Given the description of an element on the screen output the (x, y) to click on. 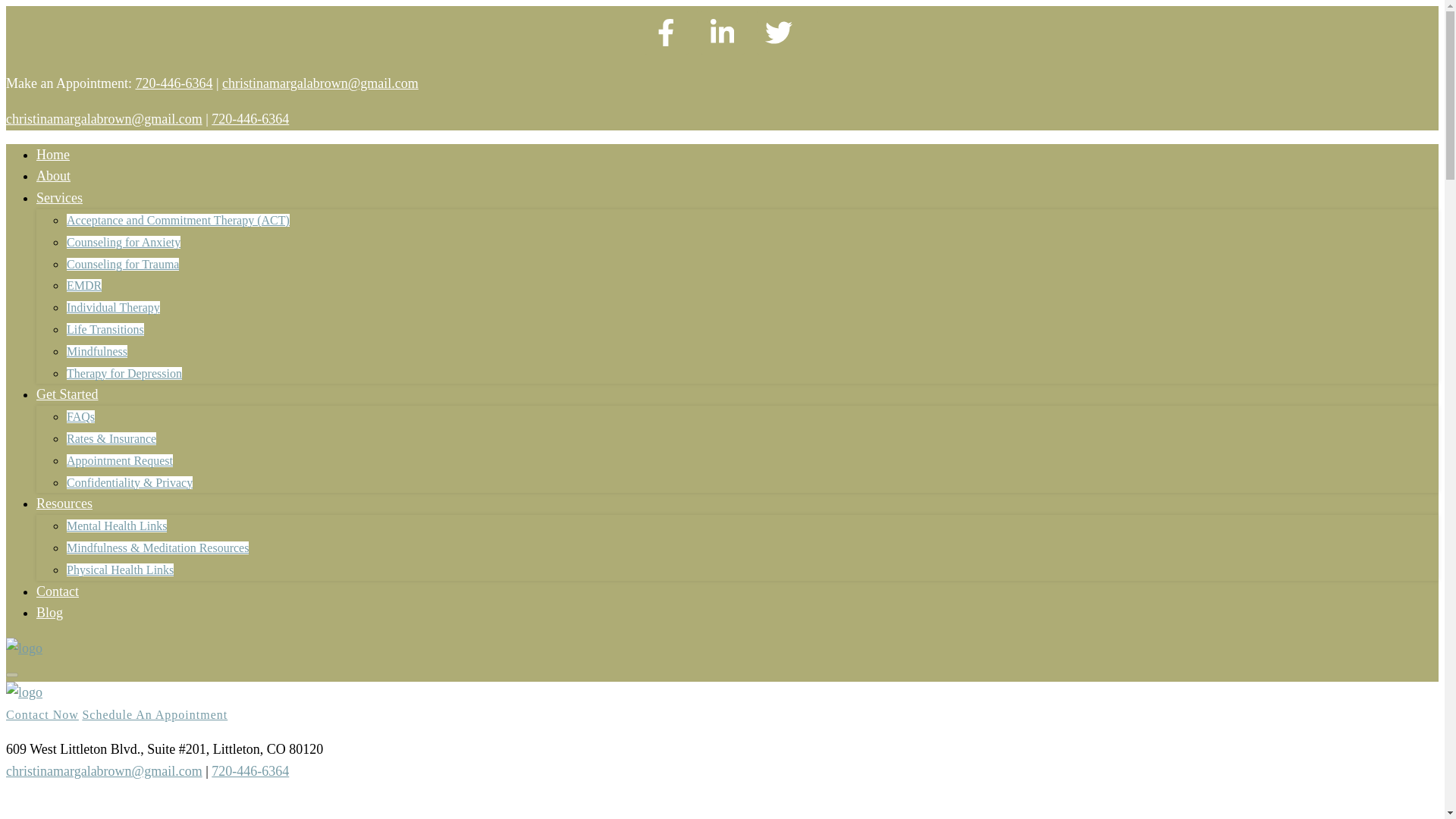
About (52, 175)
Individual Therapy (113, 307)
Get Started (66, 394)
Contact Now (41, 714)
Contact (57, 590)
720-446-6364 (249, 770)
Life Transitions (105, 328)
Counseling for Trauma (122, 264)
Therapy for Depression (124, 373)
EMDR (83, 285)
720-446-6364 (173, 83)
Blog (49, 612)
Home (52, 154)
Schedule An Appointment (154, 714)
Physical Health Links (119, 569)
